Given the description of an element on the screen output the (x, y) to click on. 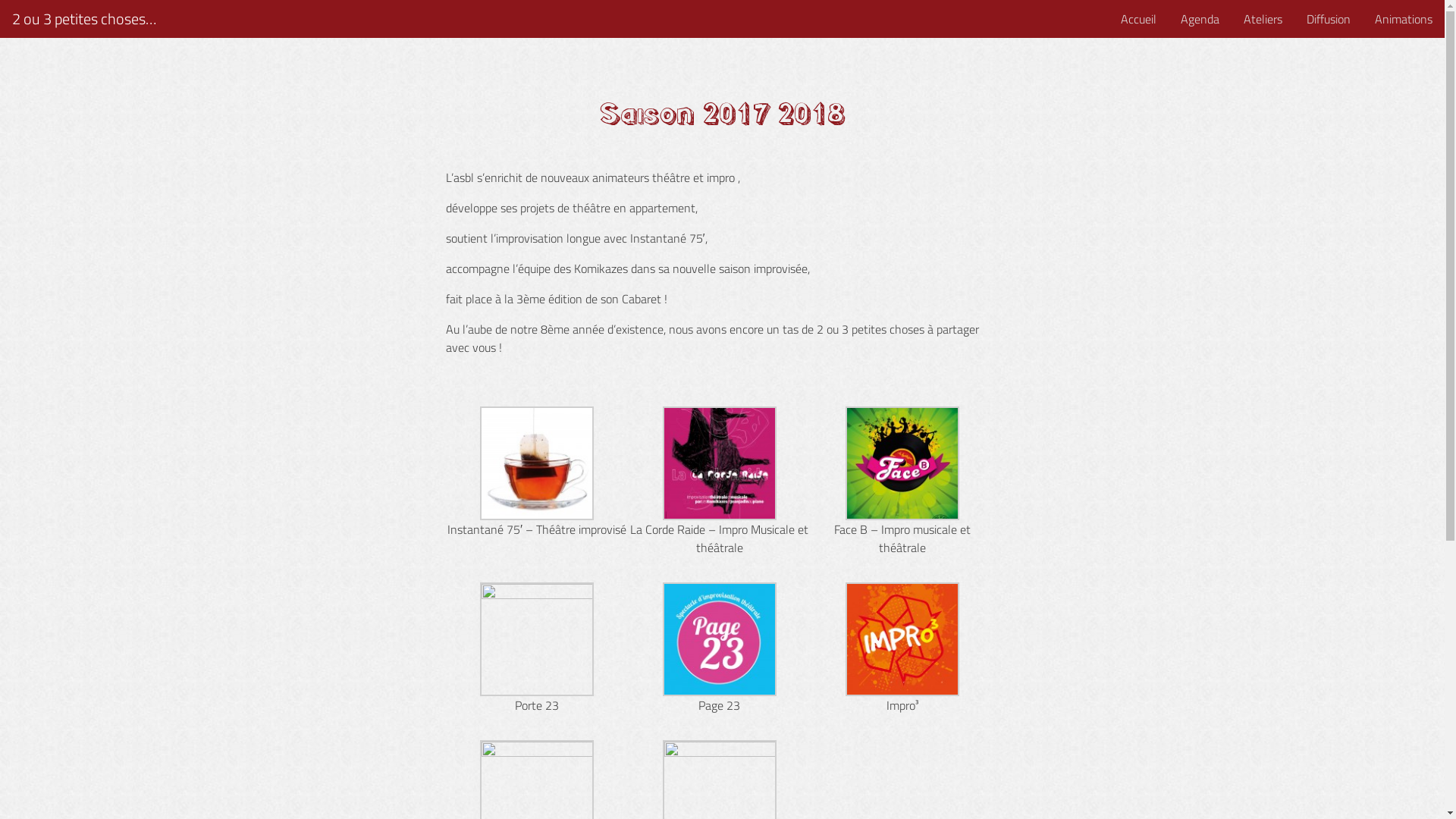
Agenda Element type: text (1199, 18)
Animations Element type: text (1403, 18)
Diffusion Element type: text (1328, 18)
Accueil Element type: text (1138, 18)
Ateliers Element type: text (1262, 18)
